Given the description of an element on the screen output the (x, y) to click on. 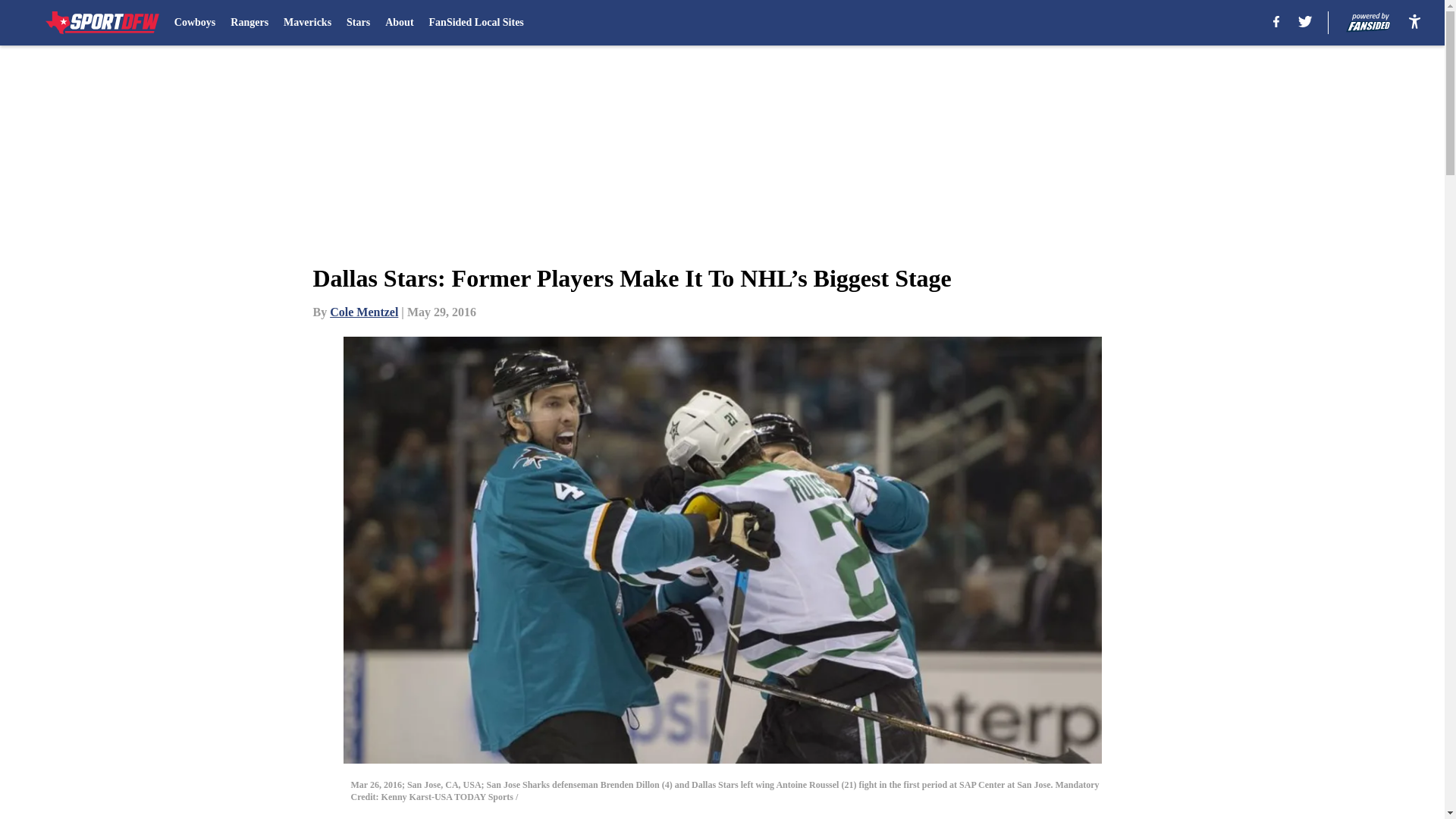
Cole Mentzel (363, 311)
Stars (357, 22)
FanSided Local Sites (476, 22)
Rangers (248, 22)
Mavericks (307, 22)
Cowboys (194, 22)
About (399, 22)
